Given the description of an element on the screen output the (x, y) to click on. 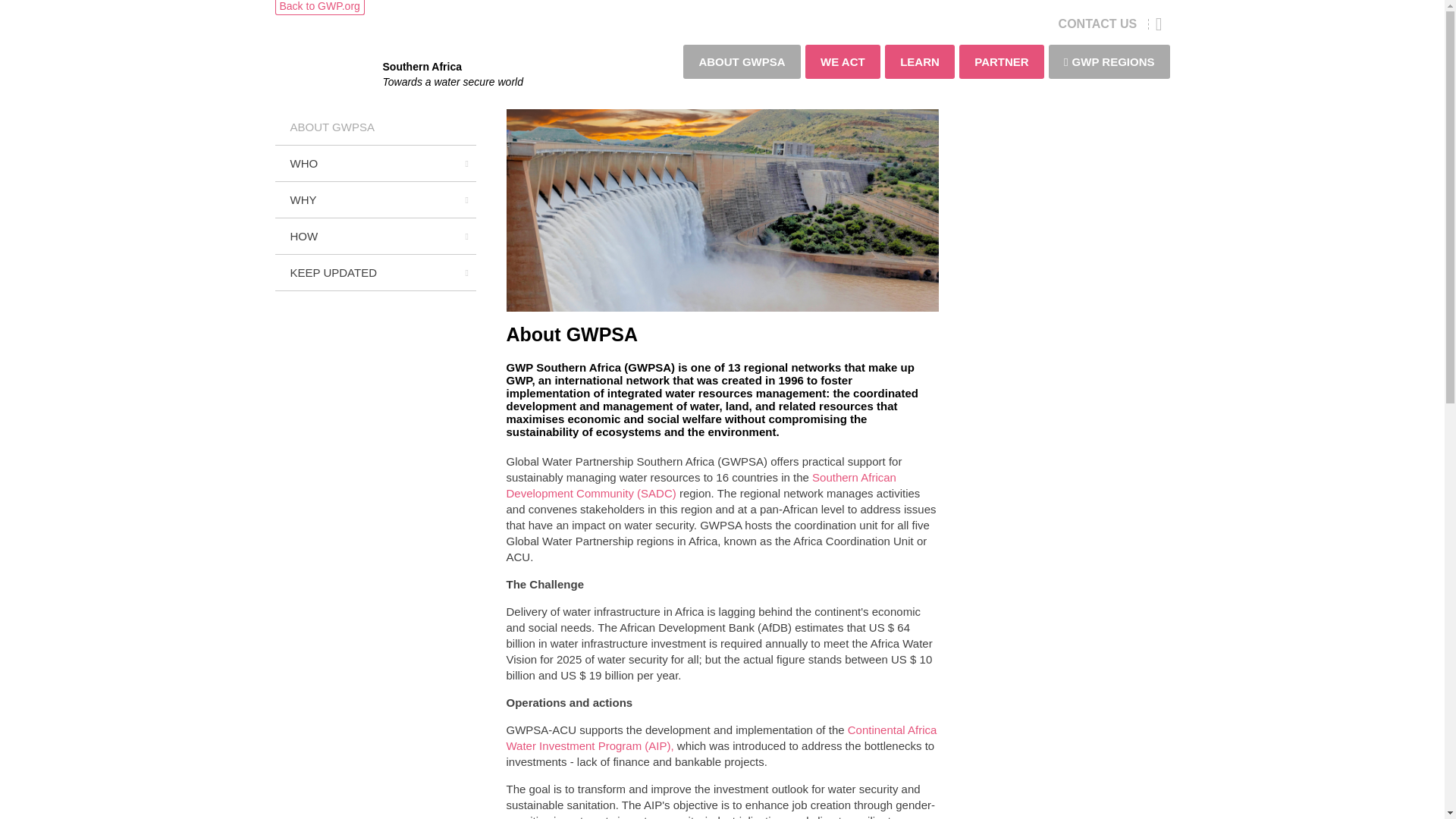
WE ACT (842, 61)
ABOUT GWPSA (740, 61)
CONTACT US (1097, 23)
Back to GWP.org (319, 6)
